Given the description of an element on the screen output the (x, y) to click on. 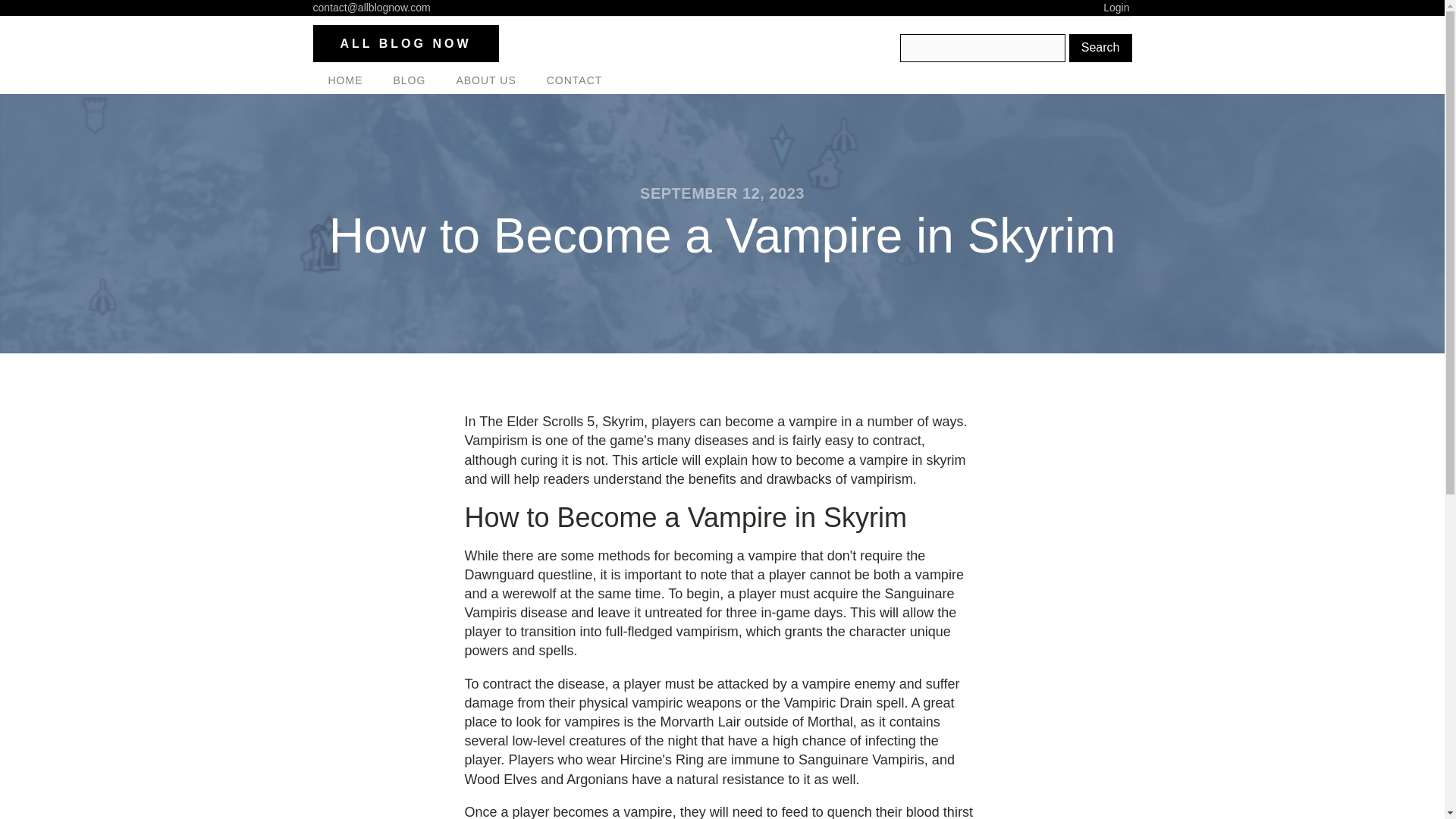
HOME (345, 80)
ABOUT US (486, 80)
Search (1100, 47)
Search (1100, 47)
Login (1117, 7)
ALL BLOG NOW (405, 43)
BLOG (409, 80)
CONTACT (574, 80)
